Given the description of an element on the screen output the (x, y) to click on. 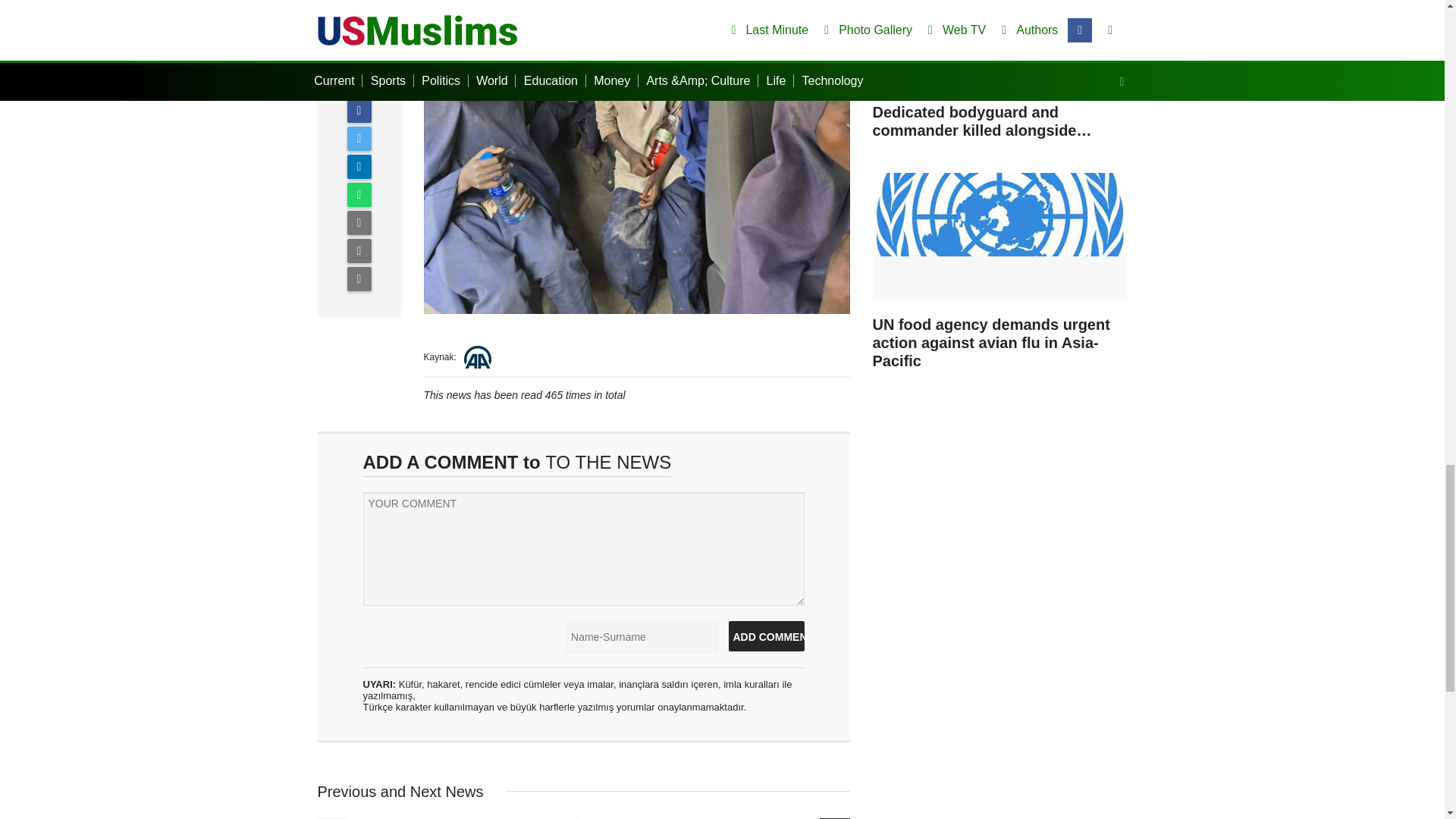
ADD COMMENT (765, 635)
ADD COMMENT (765, 635)
